Given the description of an element on the screen output the (x, y) to click on. 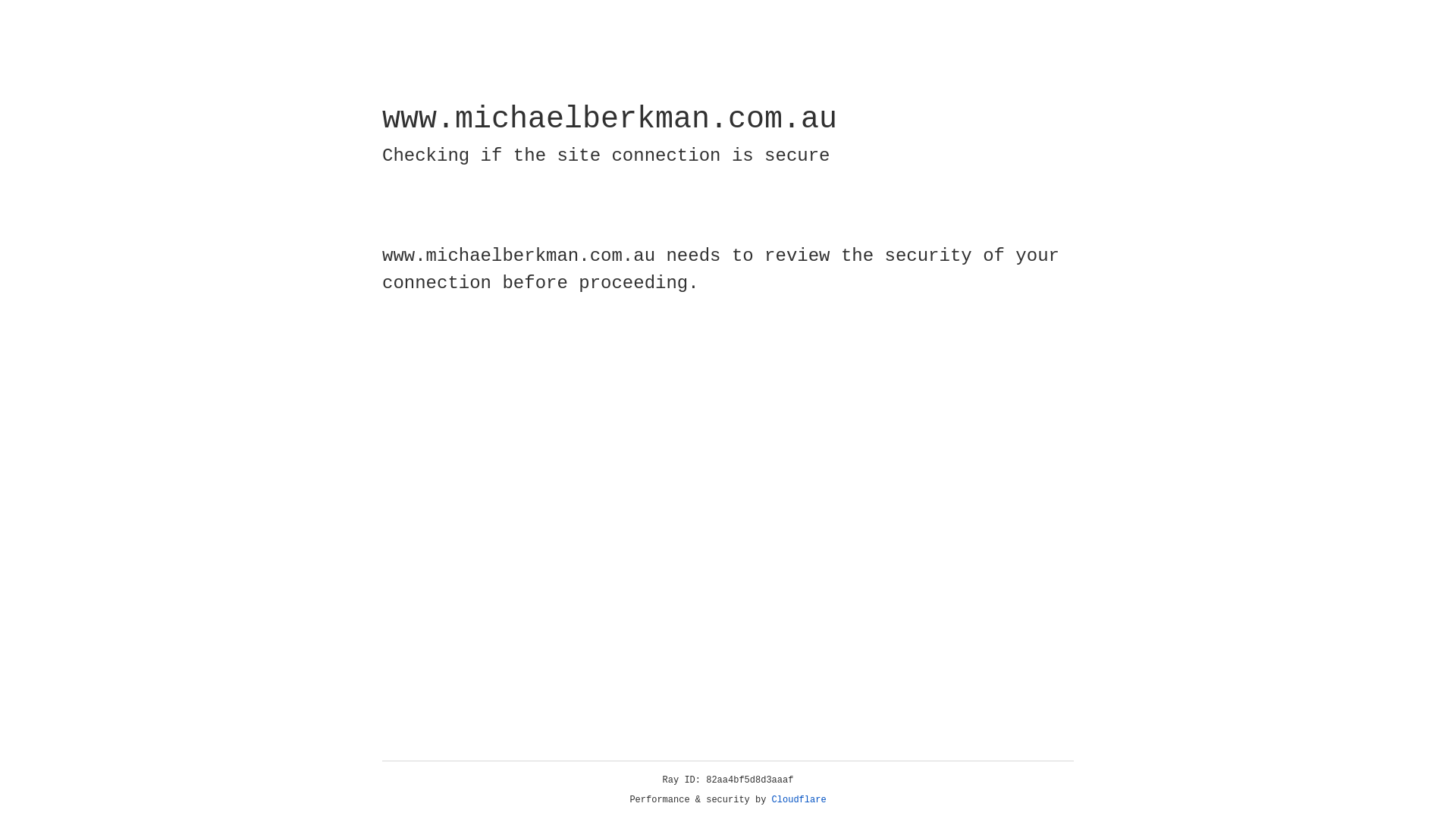
Cloudflare Element type: text (798, 799)
